Given the description of an element on the screen output the (x, y) to click on. 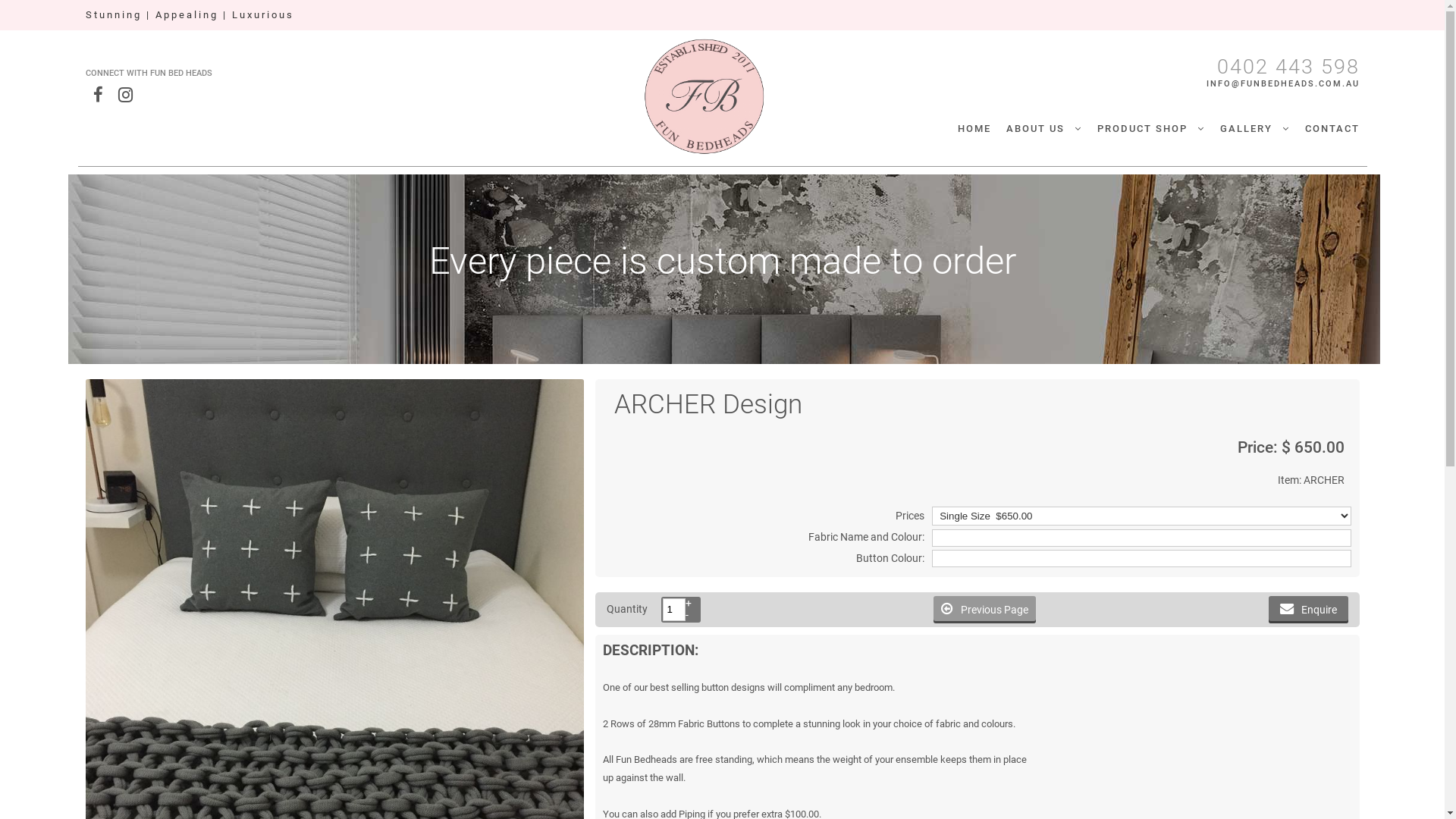
GALLERY Element type: text (1253, 128)
CONTACT Element type: text (1331, 128)
HOME Element type: text (973, 128)
ABOUT US Element type: text (1042, 128)
Add To Cart Element type: text (31, 7)
PRODUCT SHOP Element type: text (1149, 128)
INFO@FUNBEDHEADS.COM.AU Element type: text (1274, 83)
- Element type: text (692, 615)
+ Element type: text (692, 603)
